Given the description of an element on the screen output the (x, y) to click on. 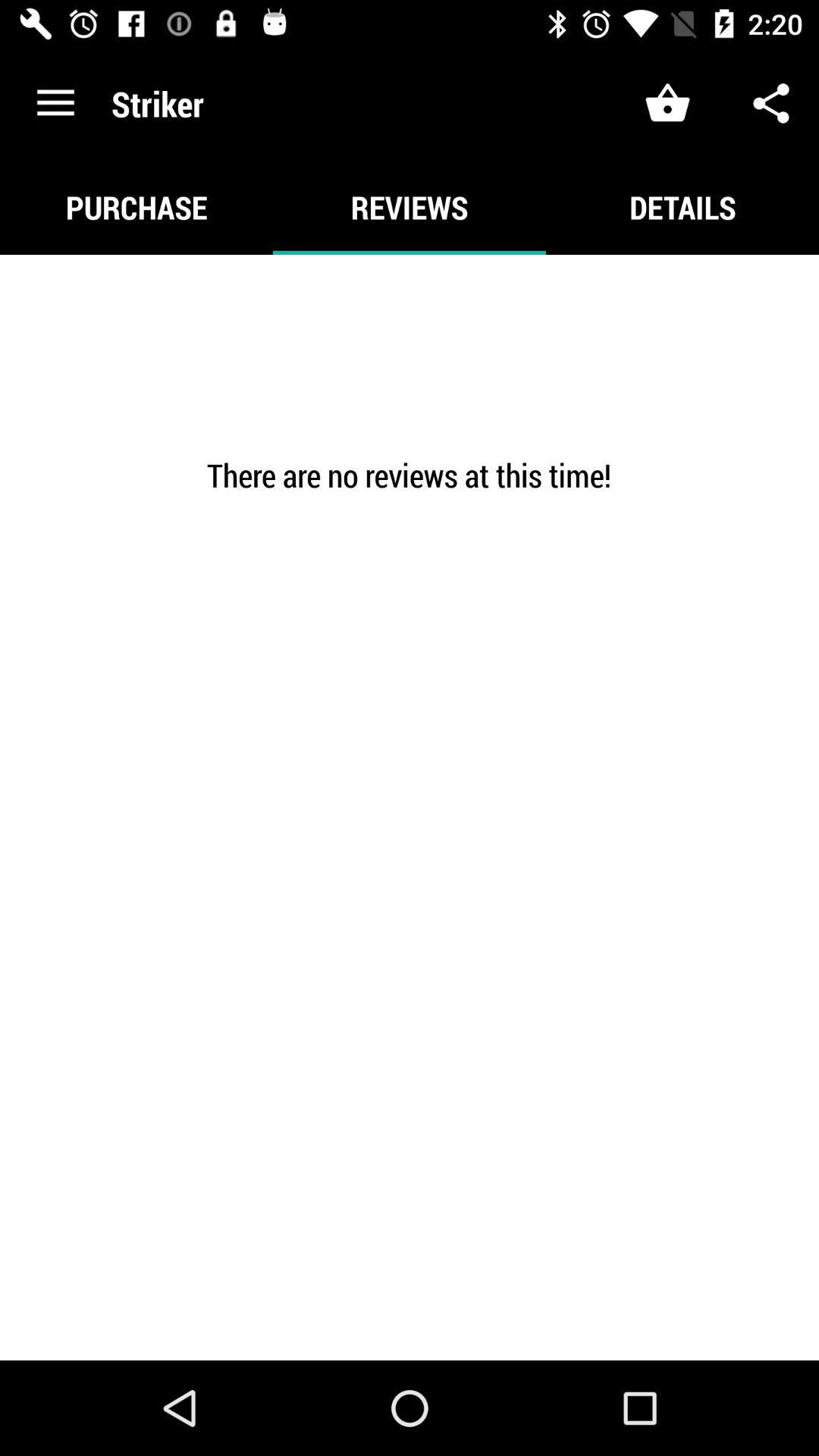
open icon above details item (771, 103)
